Given the description of an element on the screen output the (x, y) to click on. 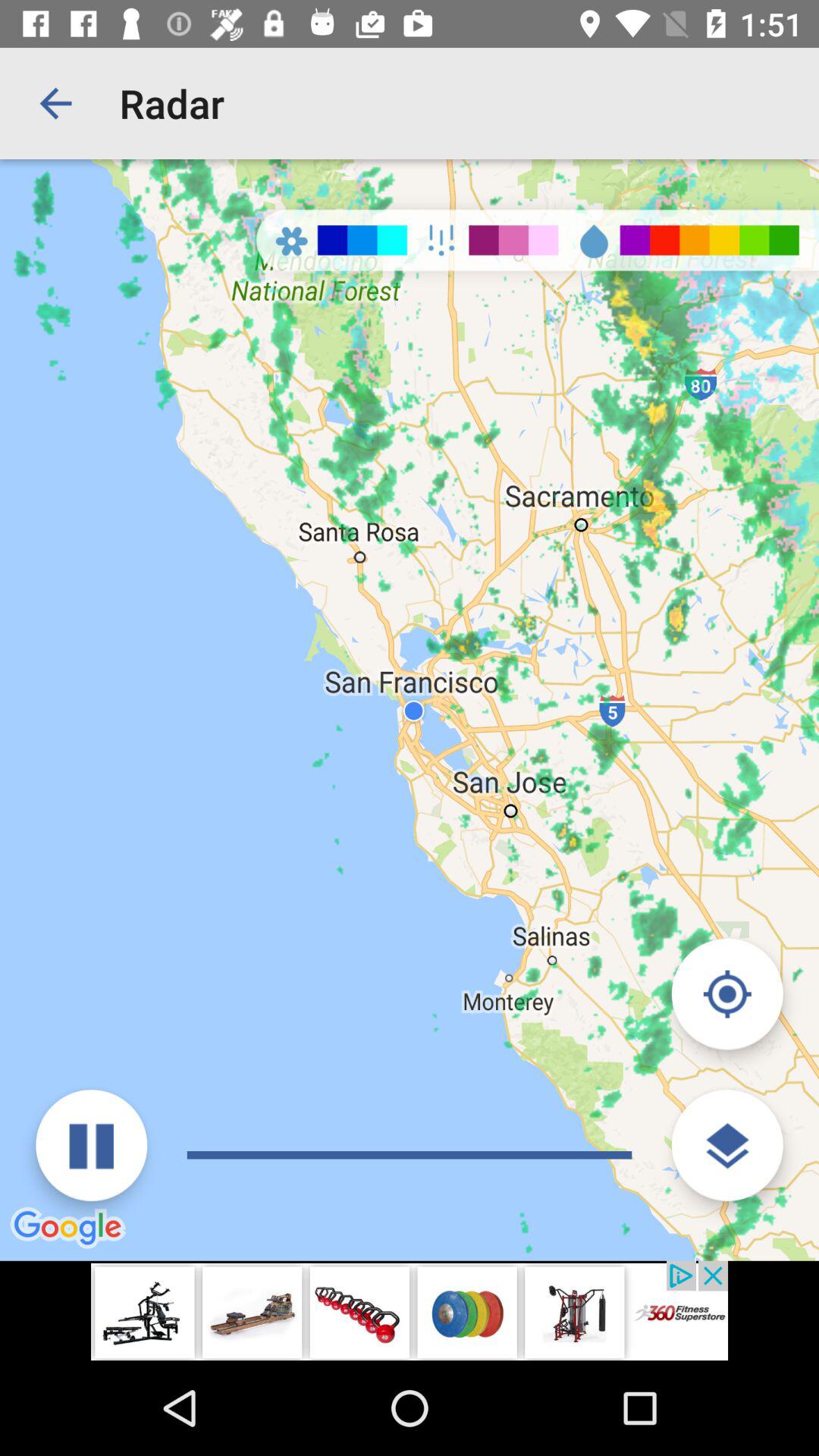
see advertisement (409, 1310)
